Given the description of an element on the screen output the (x, y) to click on. 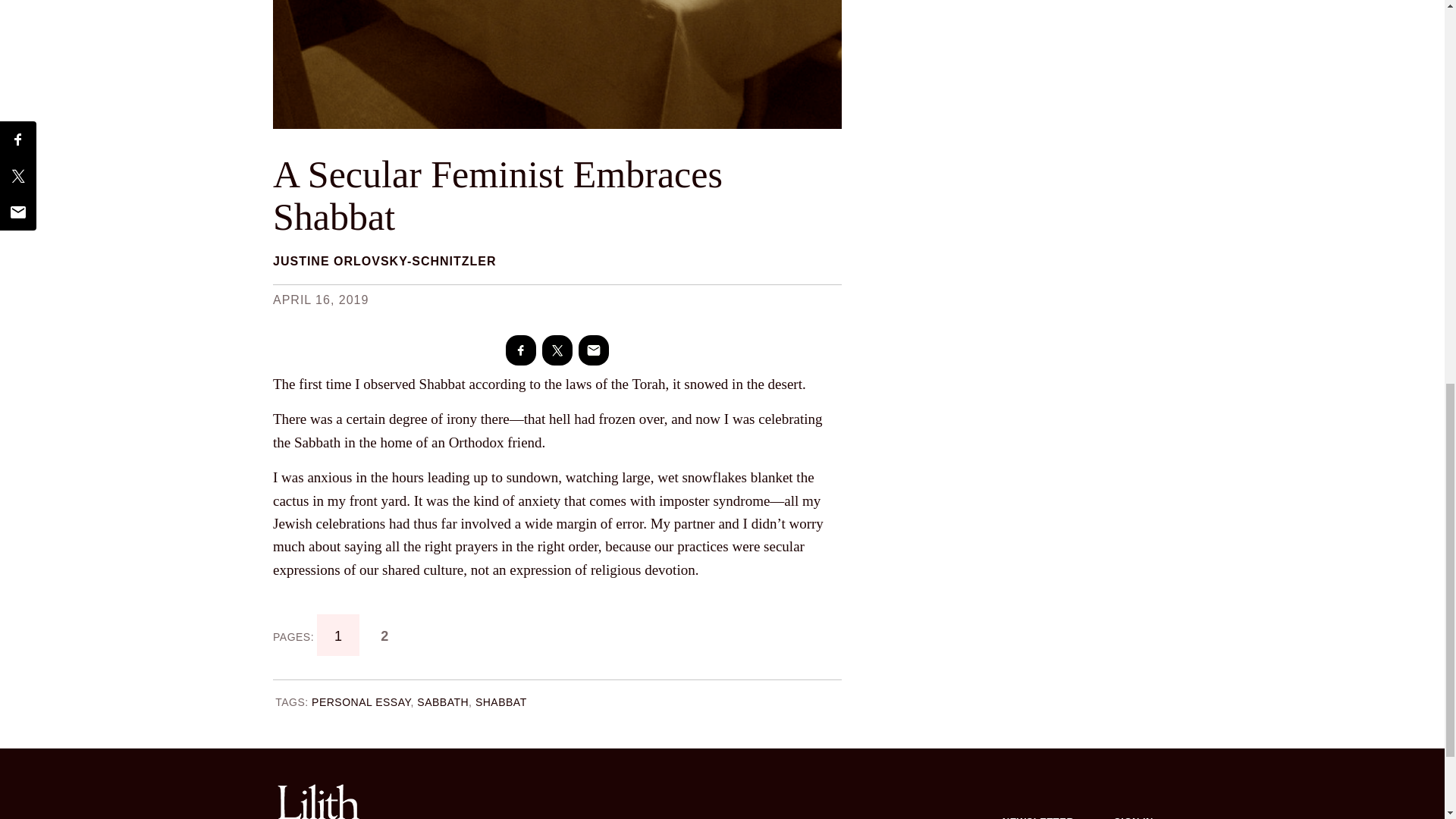
SHABBAT (501, 702)
JUSTINE ORLOVSKY-SCHNITZLER (384, 260)
PERSONAL ESSAY (360, 702)
NEWSLETTER (1038, 805)
SABBATH (442, 702)
Posts by Justine Orlovsky-Schnitzler (384, 260)
SIGN IN (1134, 805)
2 (385, 635)
